Given the description of an element on the screen output the (x, y) to click on. 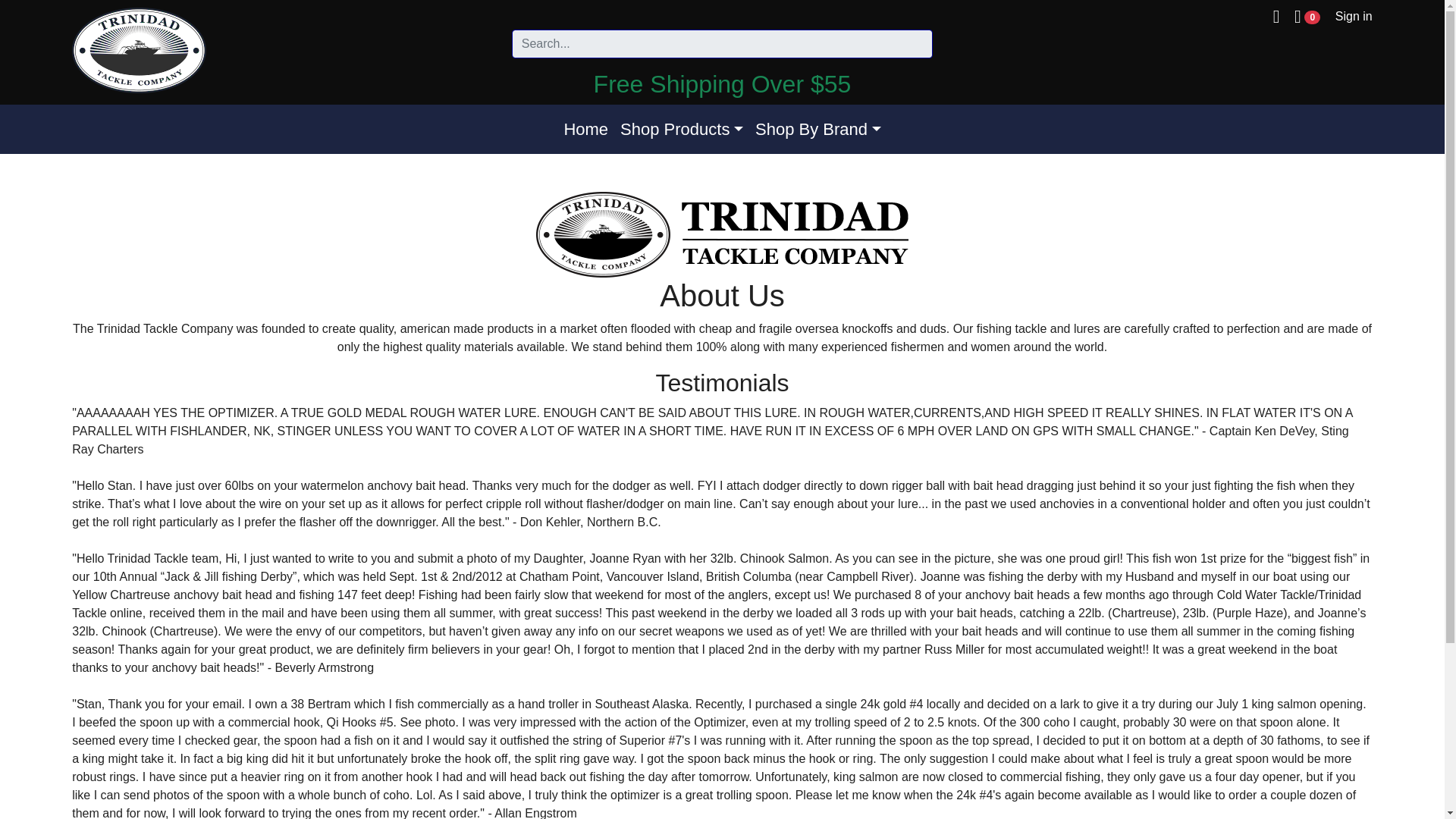
Shop Products (681, 129)
Sign in (1354, 15)
Shop By Brand (817, 129)
Go back to Stephen's Truck Center home page (138, 49)
Home (585, 129)
